Given the description of an element on the screen output the (x, y) to click on. 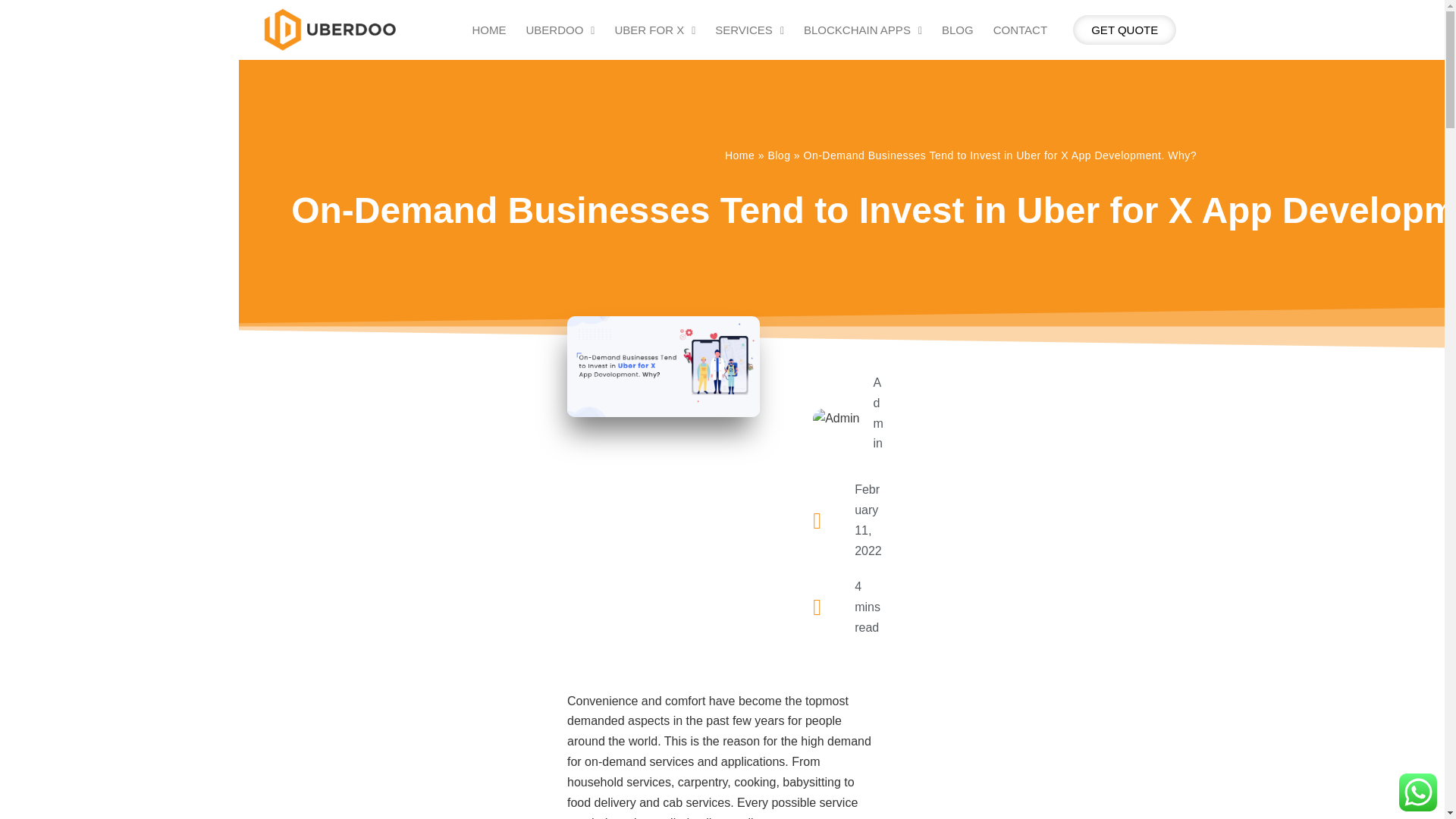
BLOCKCHAIN APPS (862, 30)
UBERDOO (559, 30)
CONTACT (1020, 30)
BLOG (957, 30)
HOME (489, 30)
UBER FOR X (654, 30)
SERVICES (748, 30)
Skip to content (15, 31)
